Given the description of an element on the screen output the (x, y) to click on. 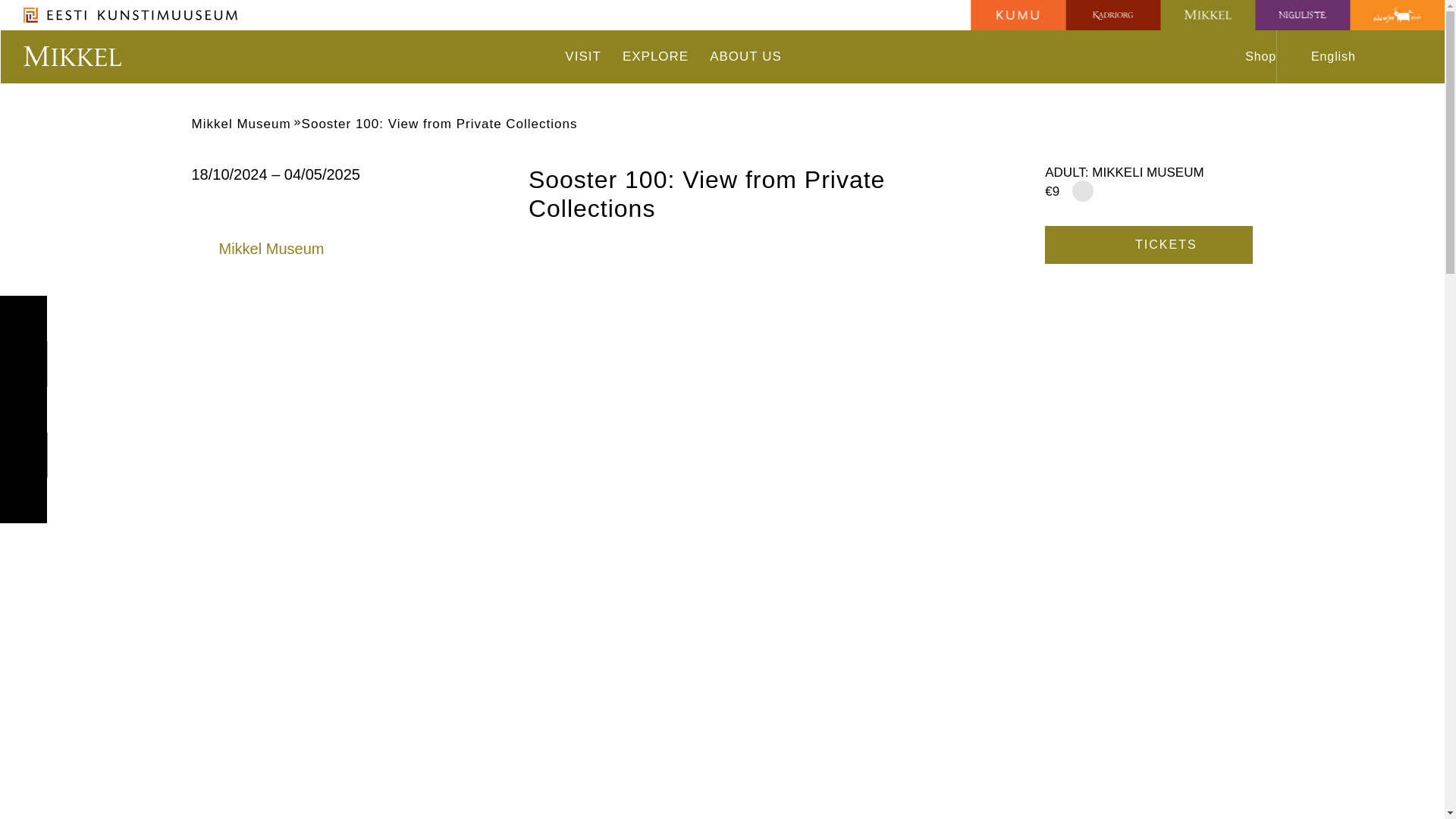
VISIT (582, 56)
ABOUT US (745, 56)
EXPLORE (655, 56)
English (1340, 56)
Shop (1250, 56)
